Given the description of an element on the screen output the (x, y) to click on. 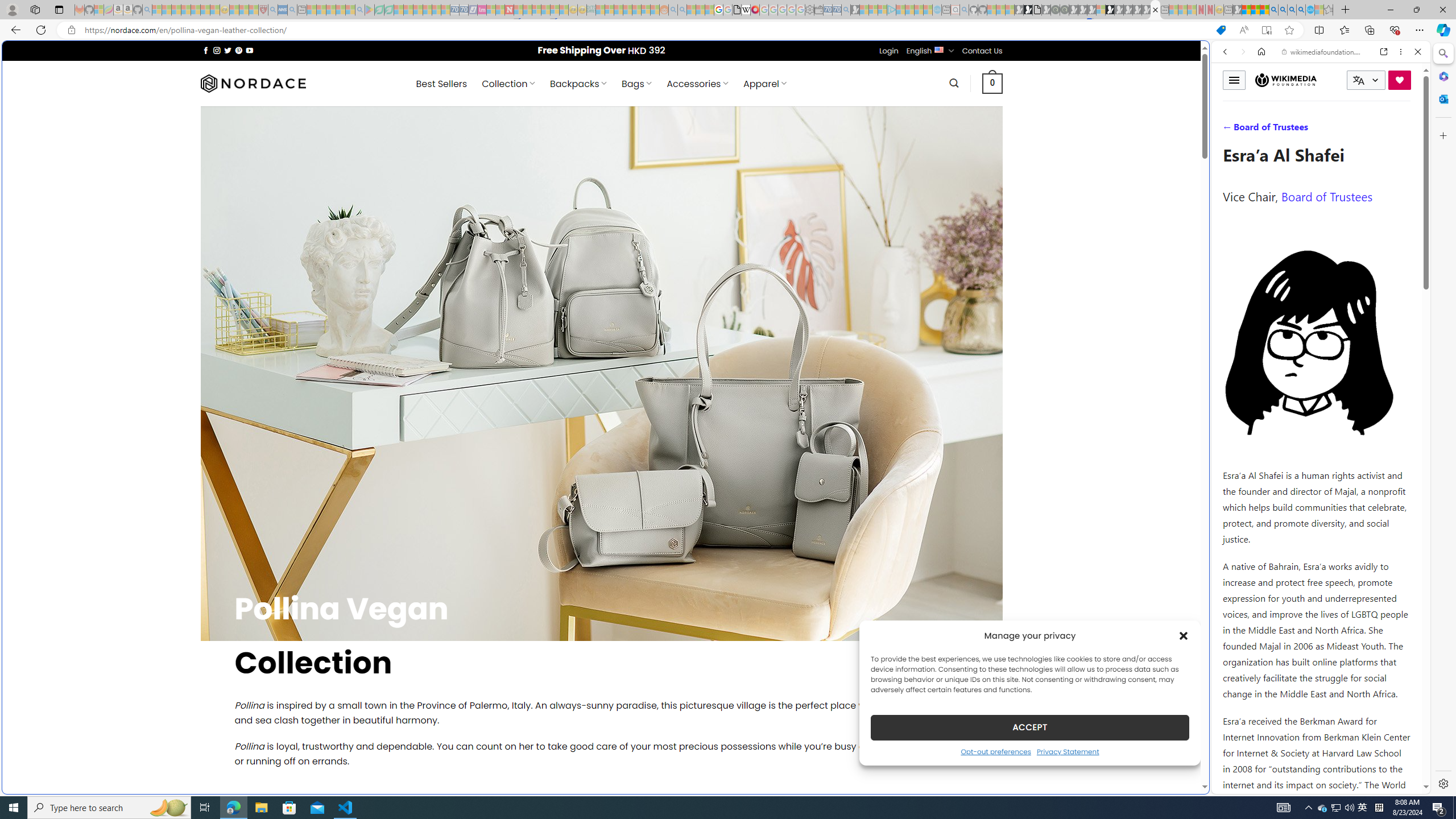
Donate now (1399, 80)
Contact Us (982, 50)
Wikimedia Foundation (1286, 79)
  0   (992, 83)
